Given the description of an element on the screen output the (x, y) to click on. 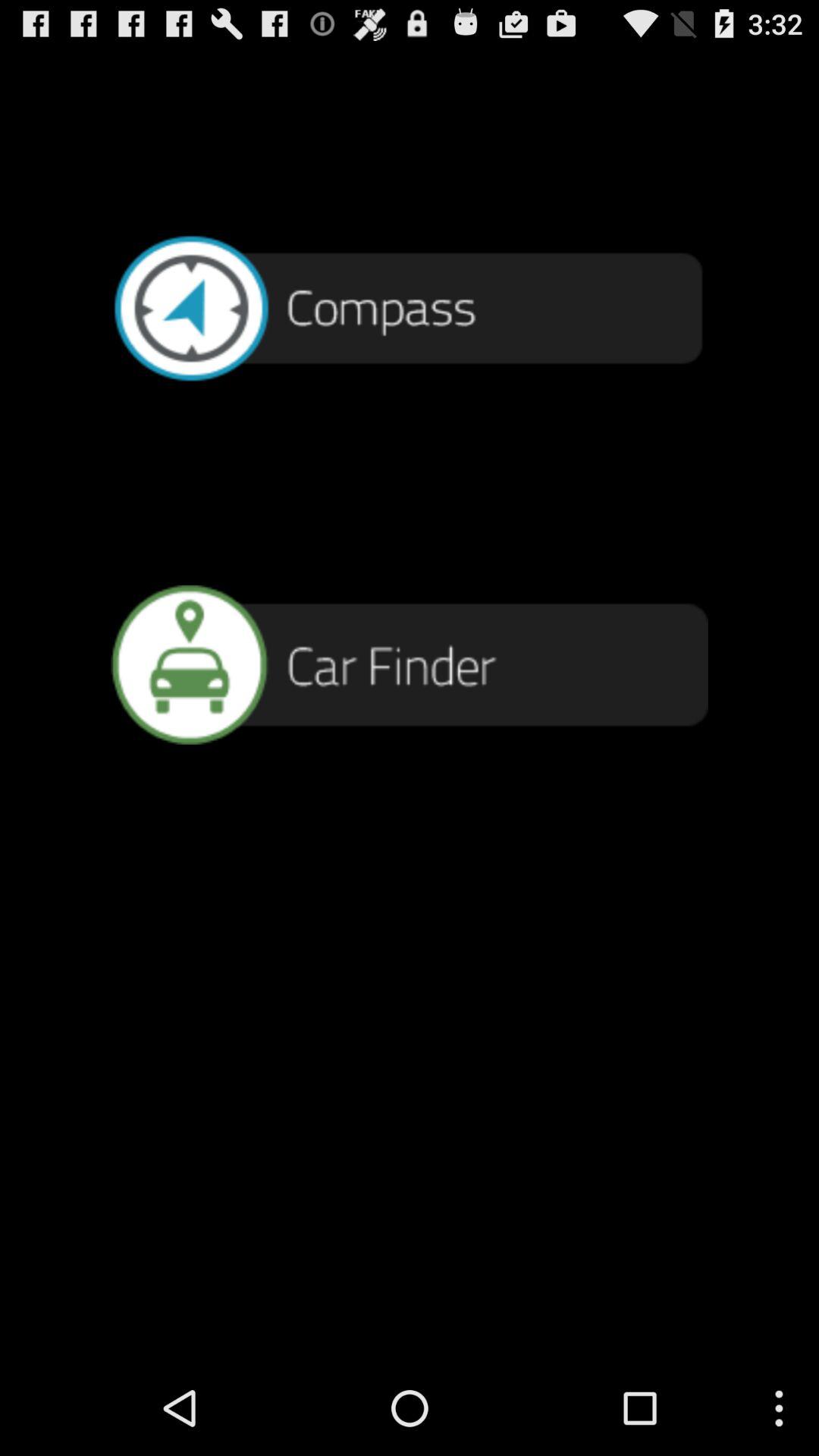
compass icon (409, 306)
